Given the description of an element on the screen output the (x, y) to click on. 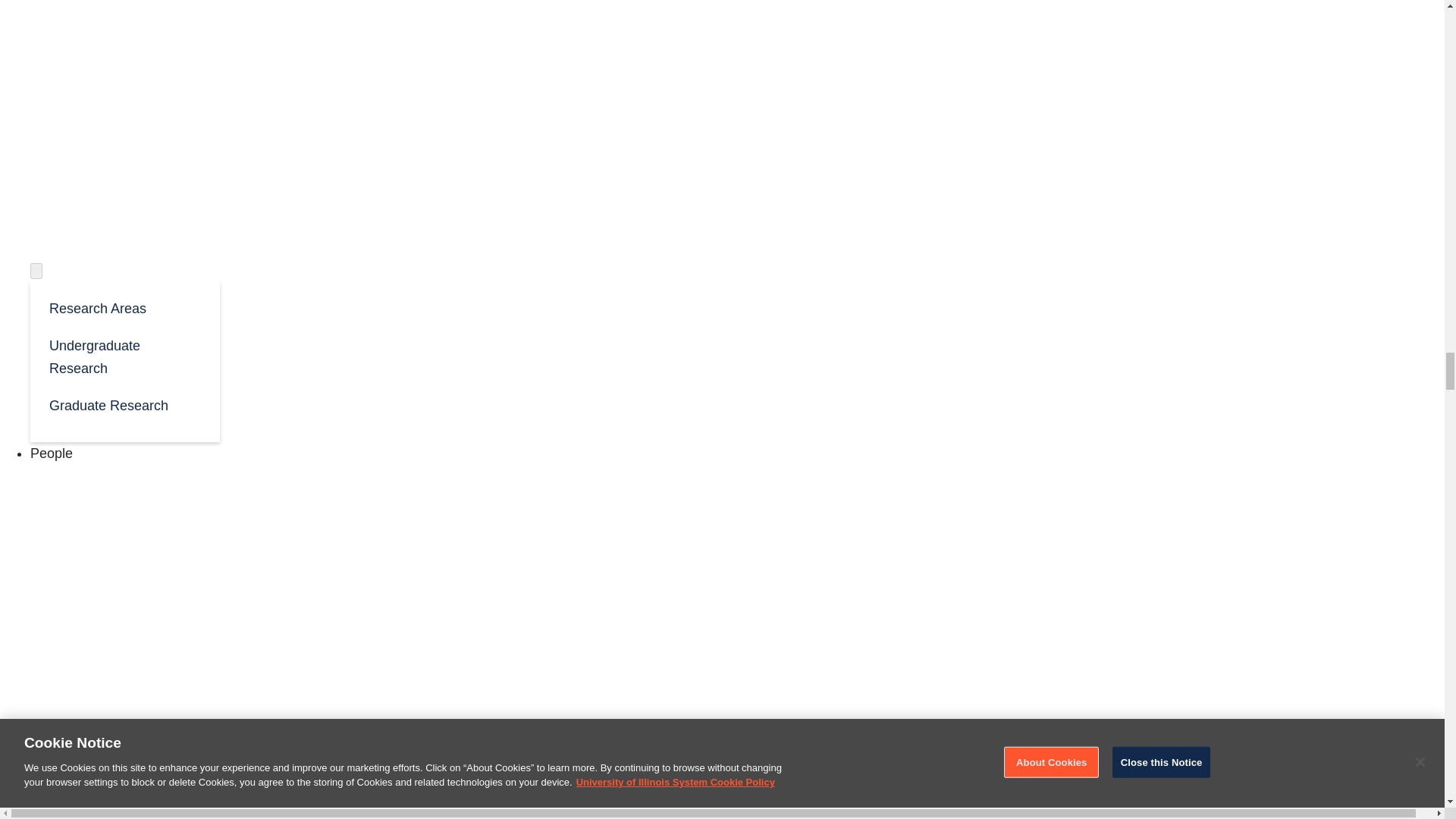
People (51, 453)
Undergraduate Research (125, 355)
Graduate Research (125, 404)
Research Areas (125, 307)
